Given the description of an element on the screen output the (x, y) to click on. 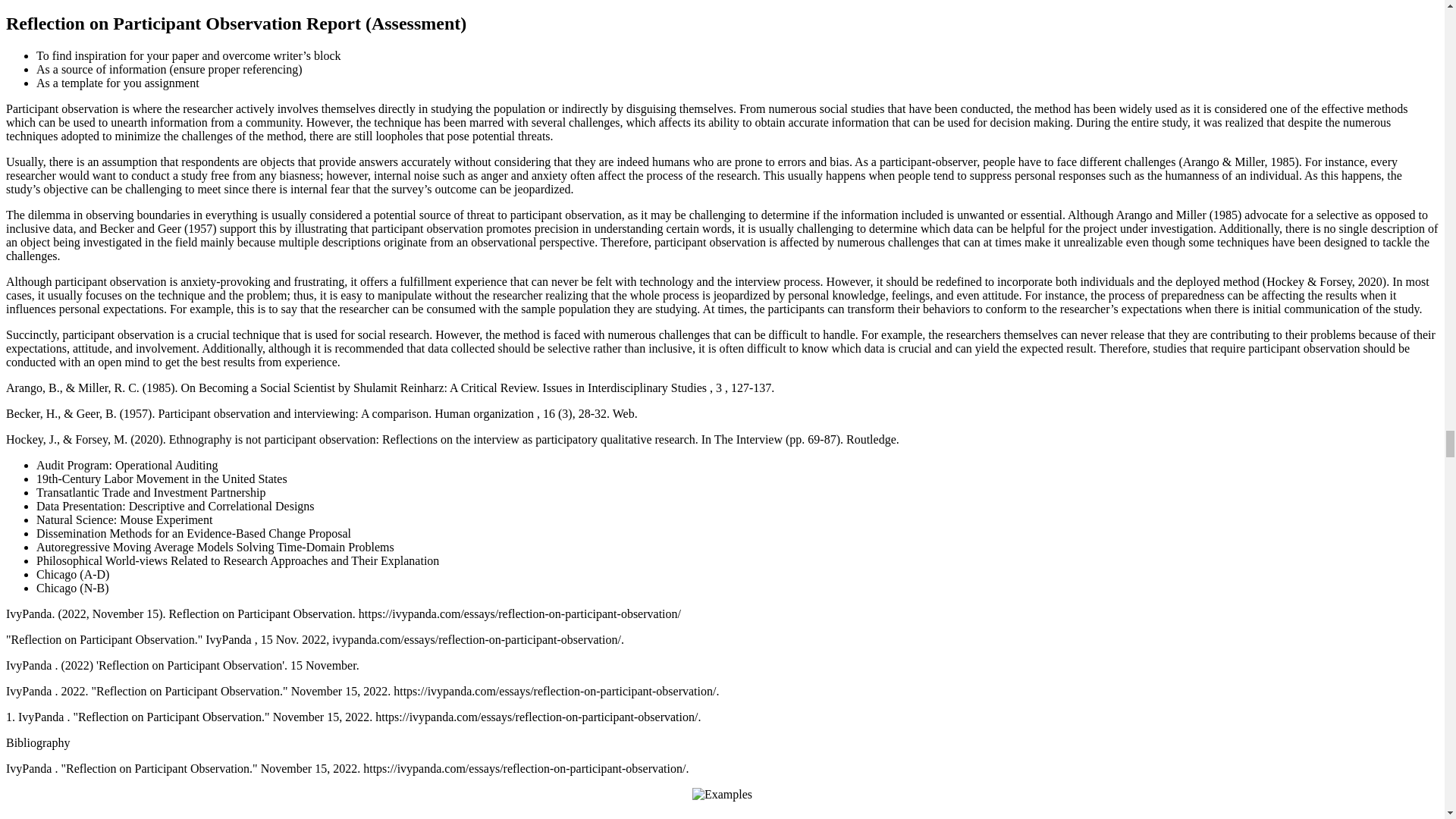
participant observation essay examples (722, 793)
